Given the description of an element on the screen output the (x, y) to click on. 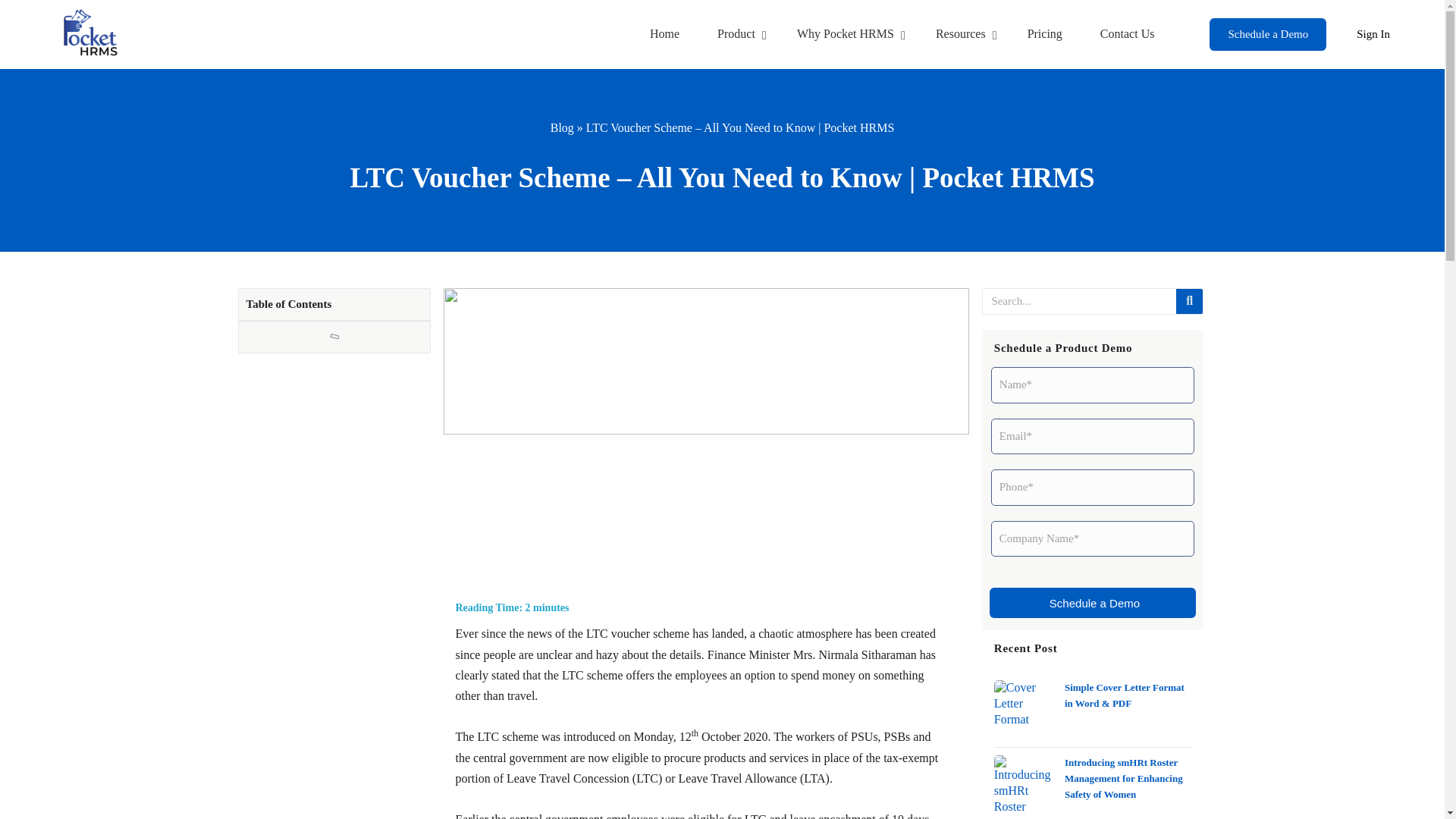
Sign In (1372, 34)
Home (664, 34)
Resources (962, 34)
Product (737, 34)
Contact Us (901, 34)
Schedule a Demo (1127, 34)
Pricing (1267, 34)
Why Pocket HRMS (1044, 34)
